Given the description of an element on the screen output the (x, y) to click on. 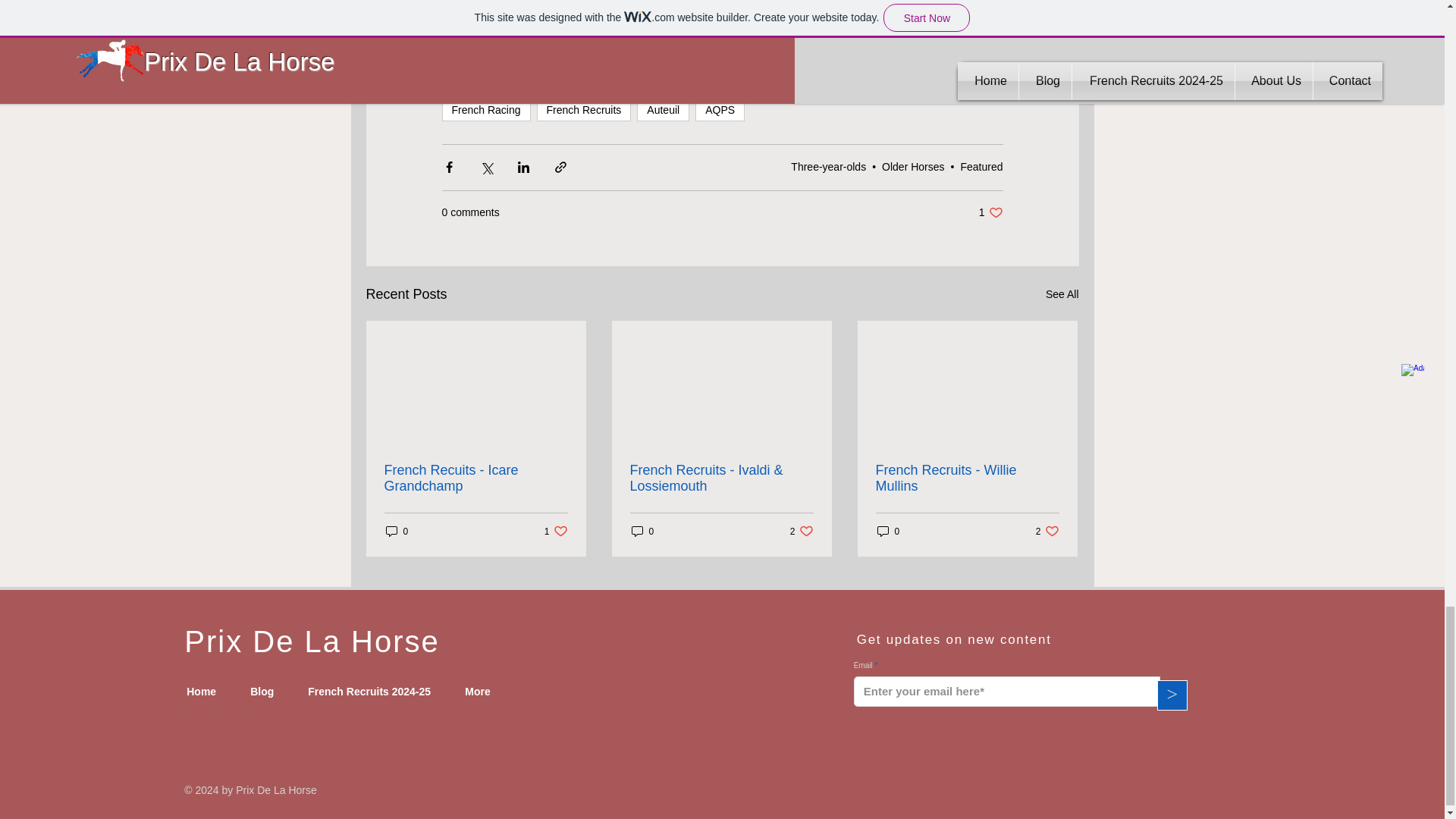
Older Horses (912, 166)
French Recruits (584, 109)
Auteuil (990, 211)
Featured (662, 109)
French Racing (981, 166)
See All (485, 109)
AQPS (1061, 294)
Three-year-olds (719, 109)
